Given the description of an element on the screen output the (x, y) to click on. 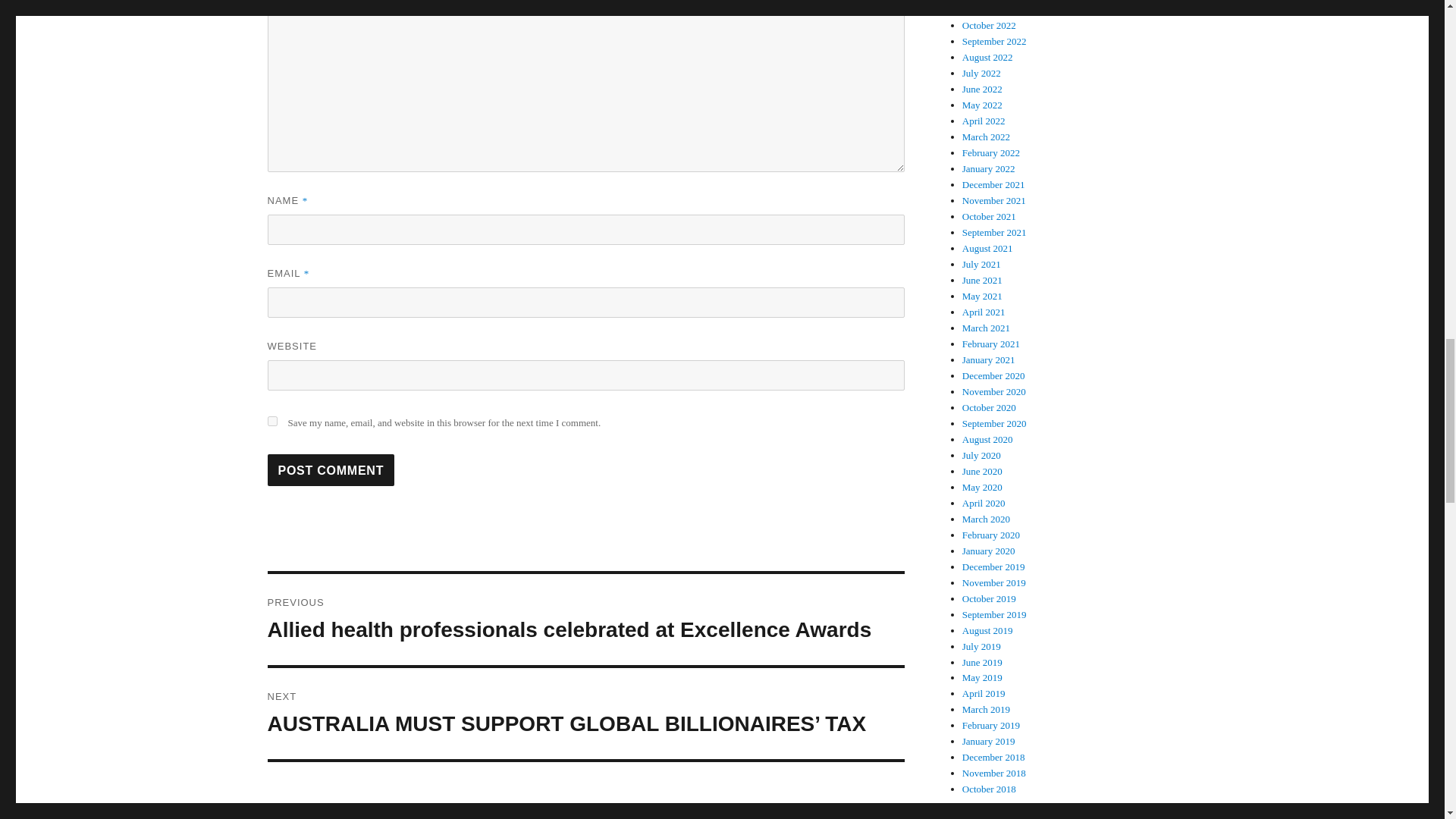
yes (271, 420)
Post Comment (330, 470)
Post Comment (330, 470)
